Given the description of an element on the screen output the (x, y) to click on. 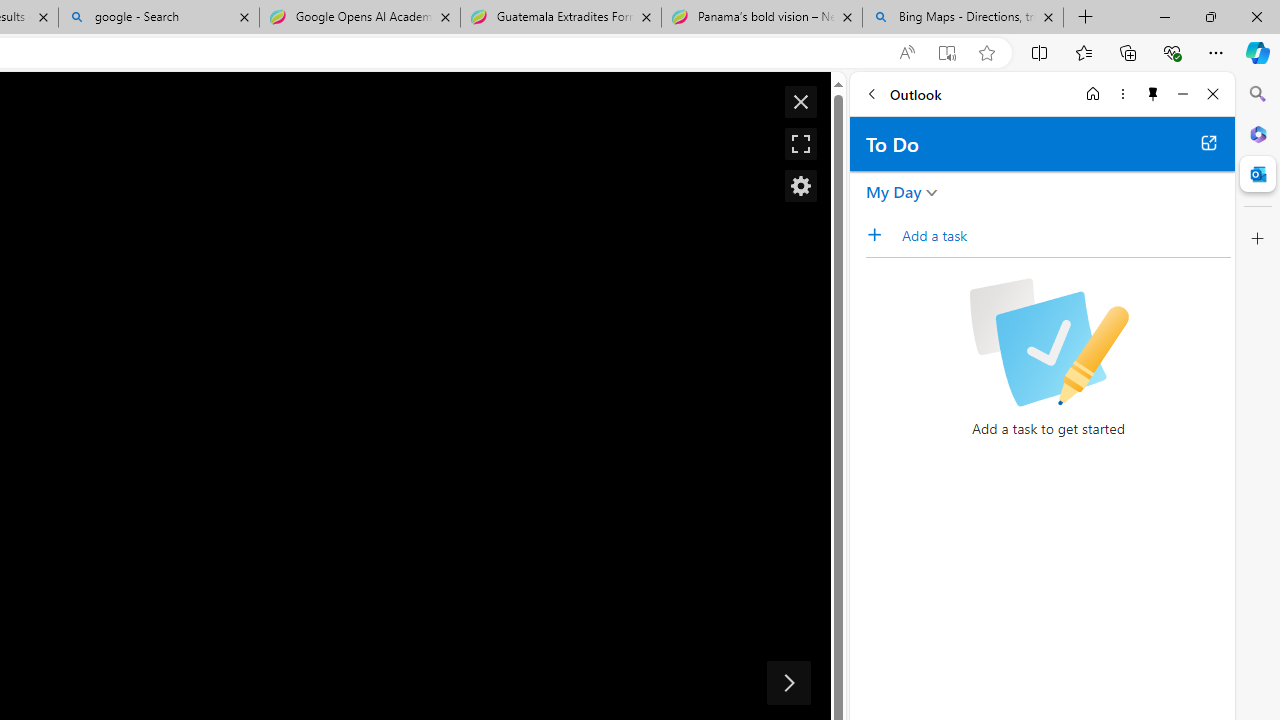
My Day (893, 191)
Open in new tab (1208, 142)
Checkbox with a pencil (1047, 342)
